Given the description of an element on the screen output the (x, y) to click on. 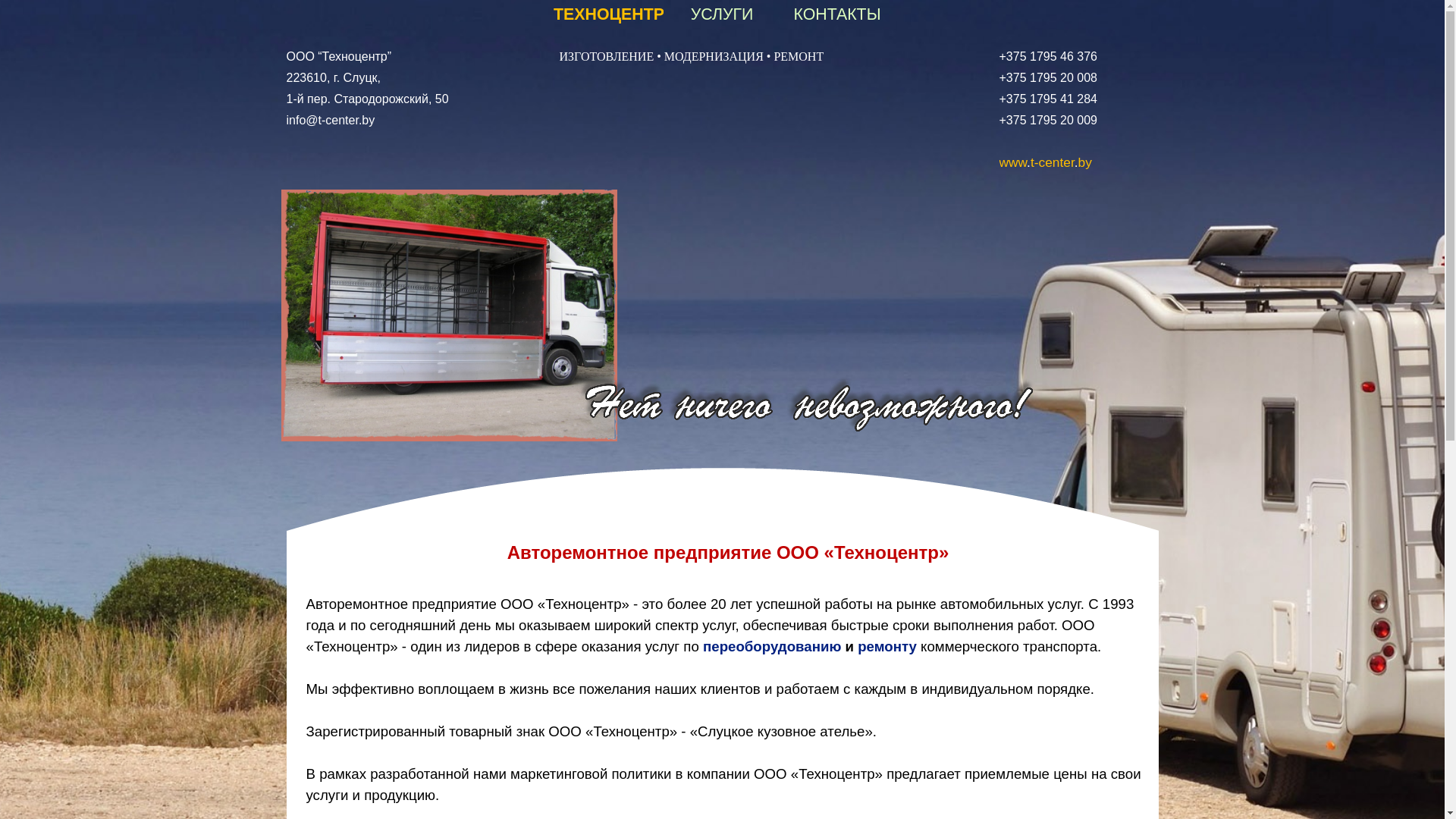
www.t-center.by Element type: text (1045, 161)
